Given the description of an element on the screen output the (x, y) to click on. 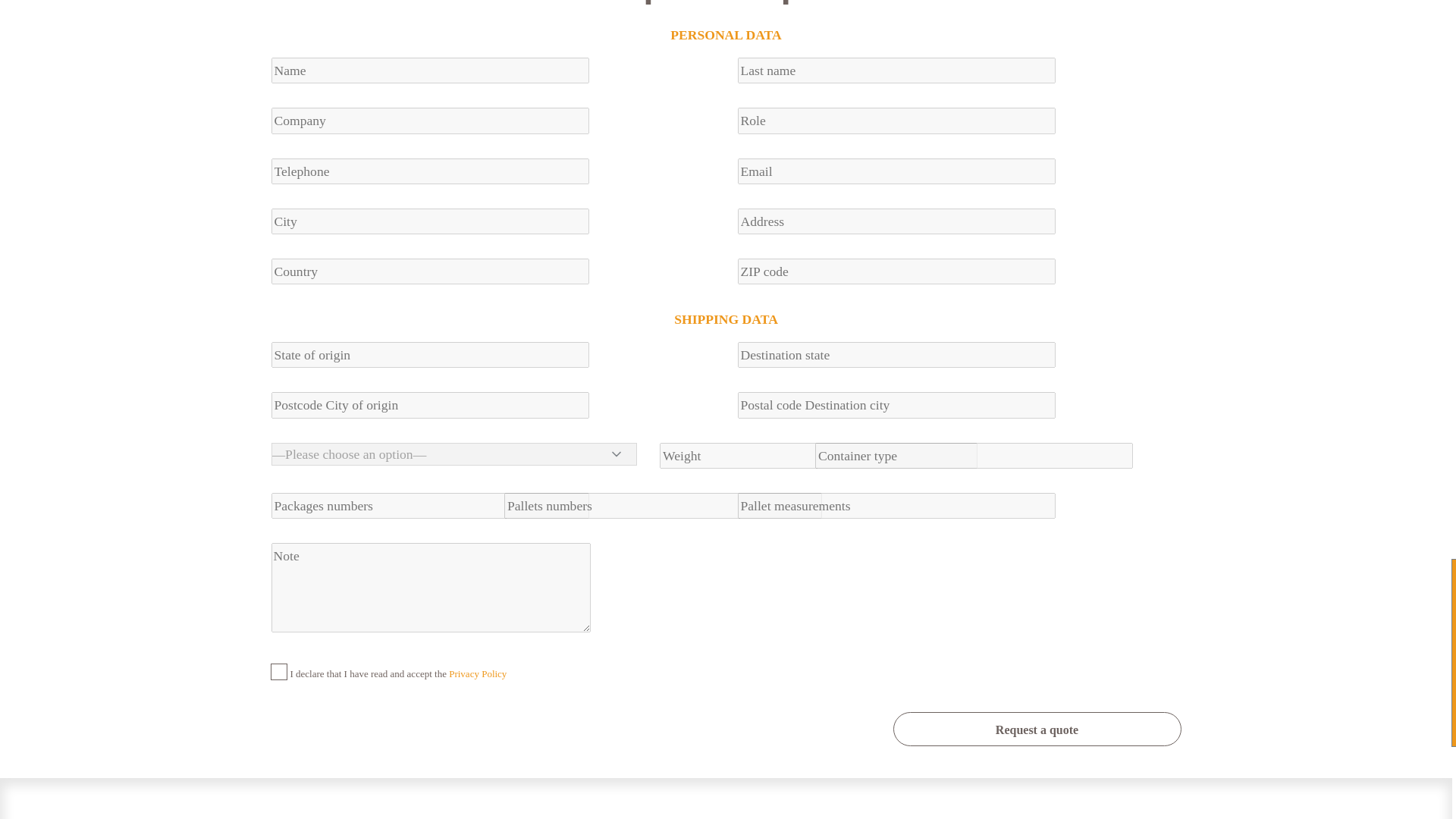
Request a quote (1036, 728)
